Given the description of an element on the screen output the (x, y) to click on. 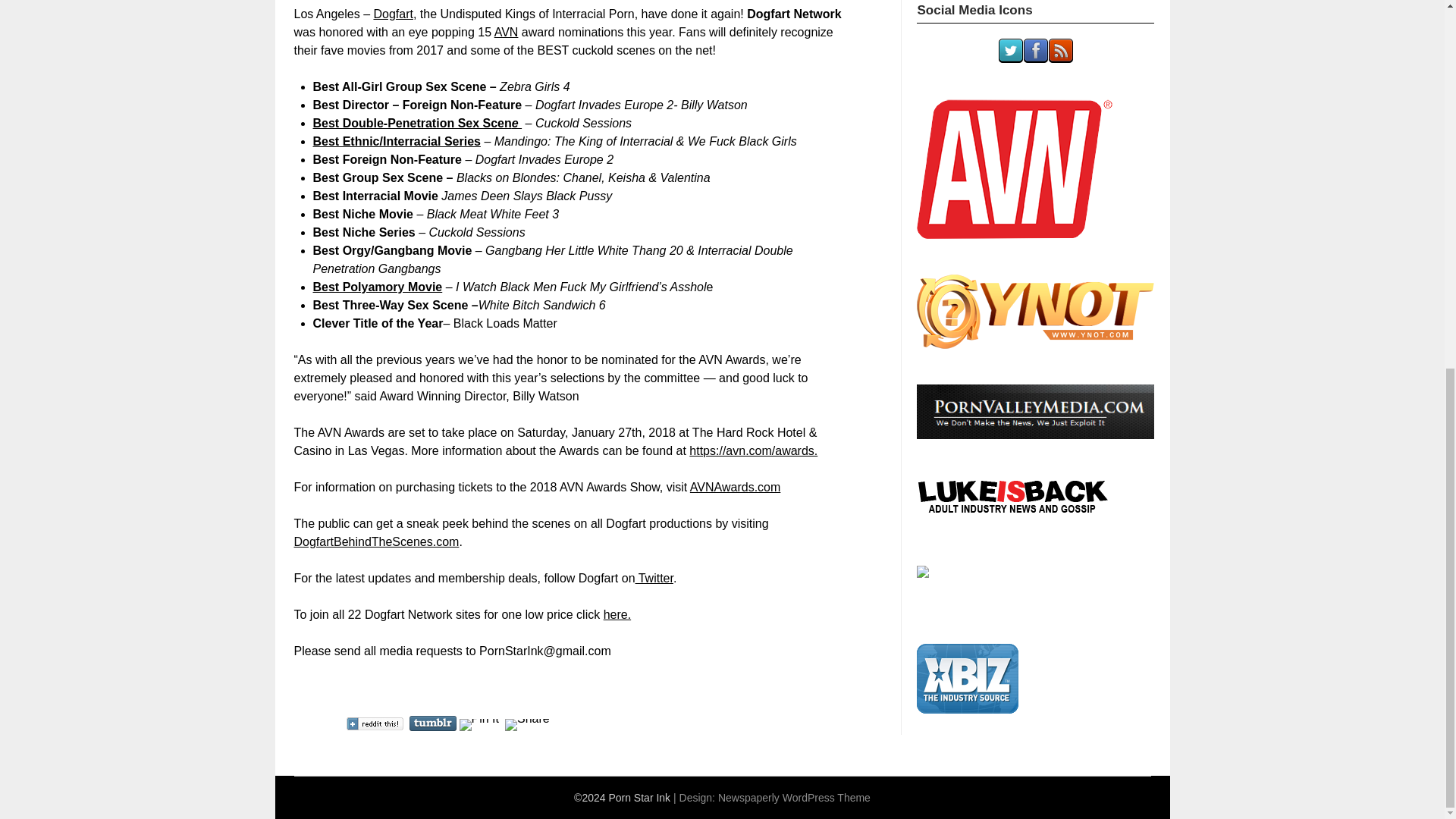
Visit Us On Twitter (1010, 58)
AVNAwards.com (735, 486)
Visit Us On Facebook (1035, 58)
Check Our Feed (1060, 58)
Dogfart (392, 13)
Pin It (479, 725)
here. (617, 614)
Twitter (653, 577)
AVN (506, 31)
Share on Tumblr (433, 723)
